Given the description of an element on the screen output the (x, y) to click on. 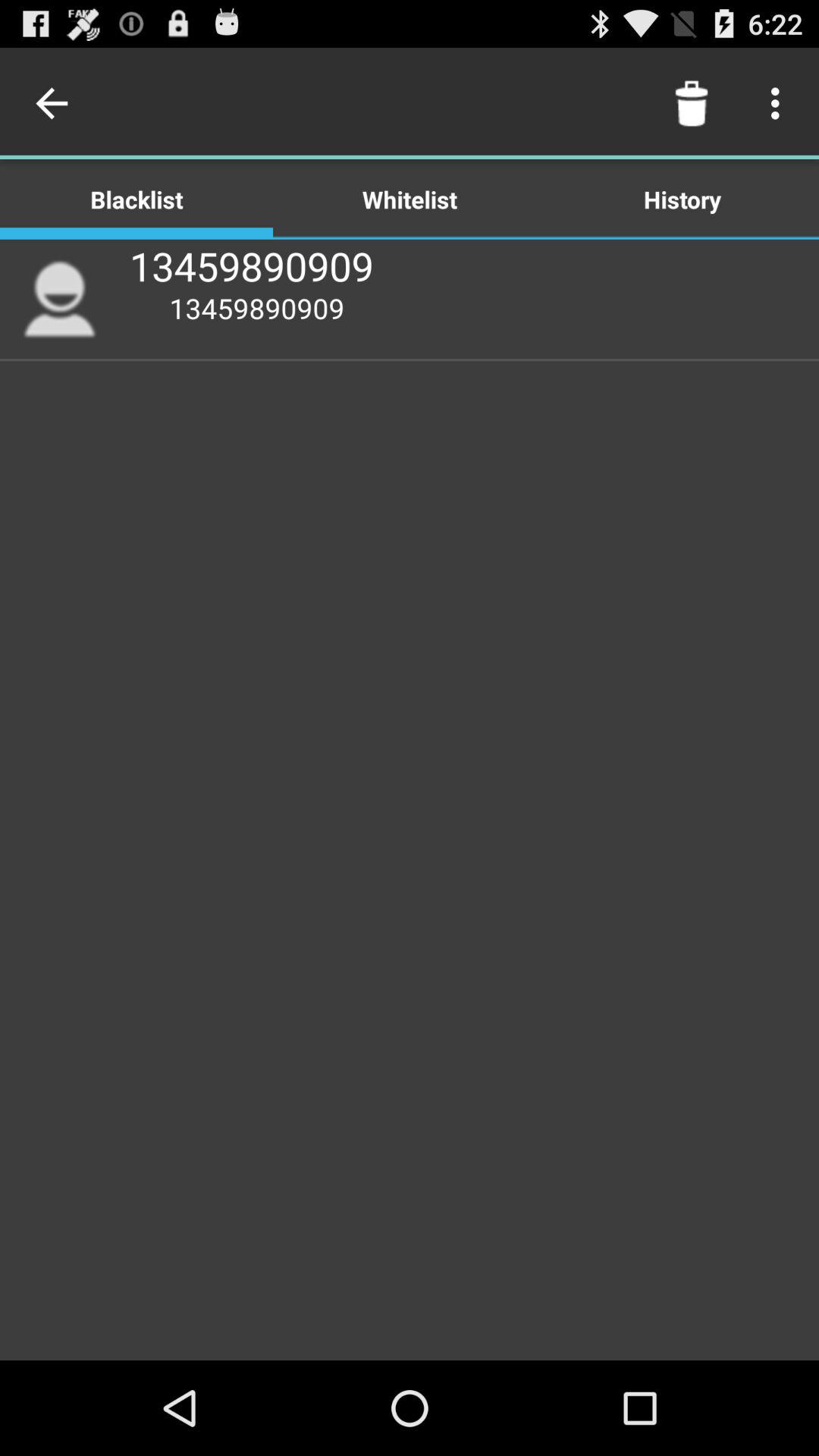
open icon next to the whitelist (682, 199)
